Given the description of an element on the screen output the (x, y) to click on. 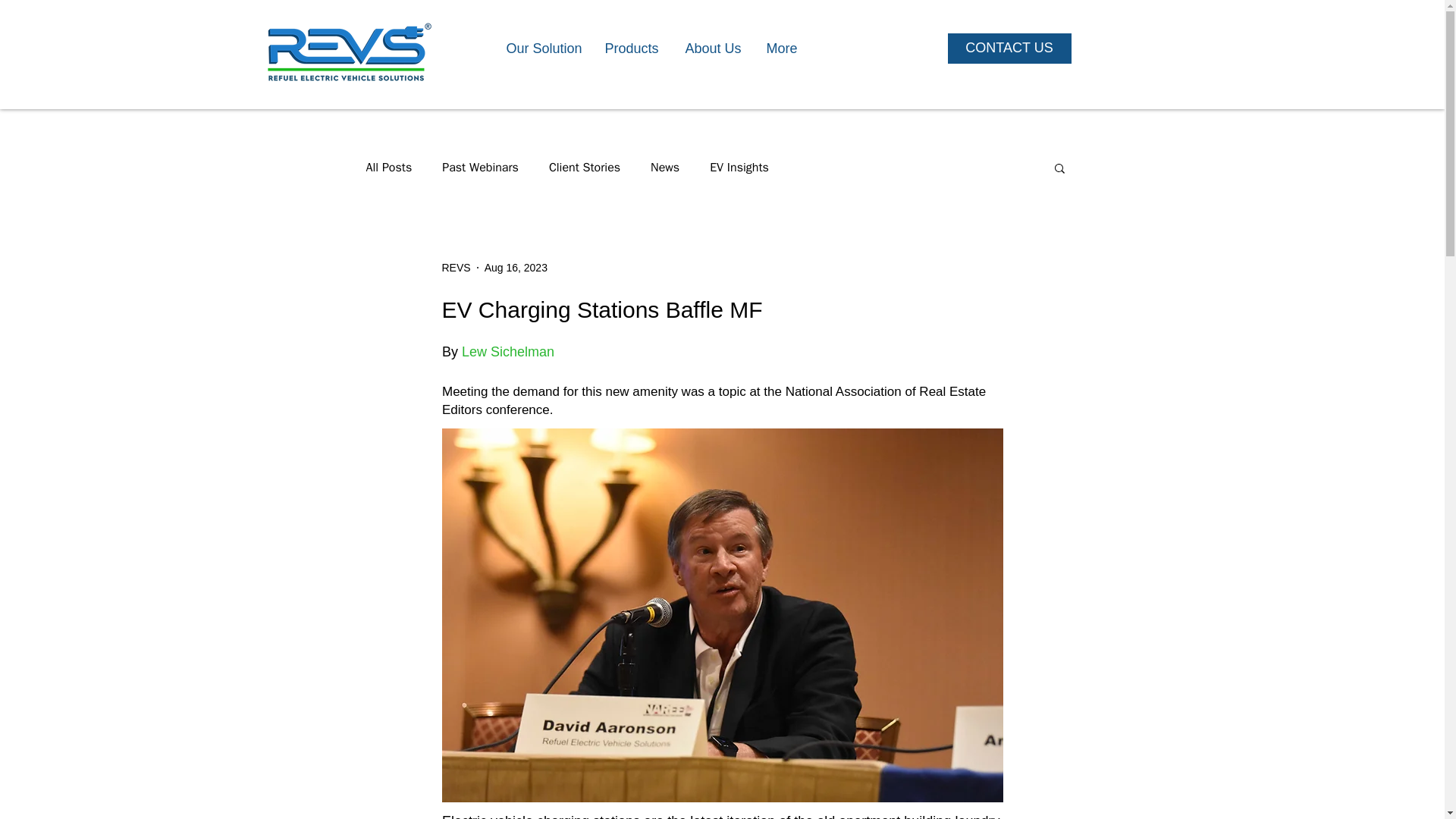
Client Stories (584, 166)
Past Webinars (480, 166)
Lew Sichelman (507, 351)
EV Insights (739, 166)
REVS (455, 267)
Our Solution (543, 48)
CONTACT US (1009, 48)
All Posts (388, 166)
News (664, 166)
Products (632, 48)
